Given the description of an element on the screen output the (x, y) to click on. 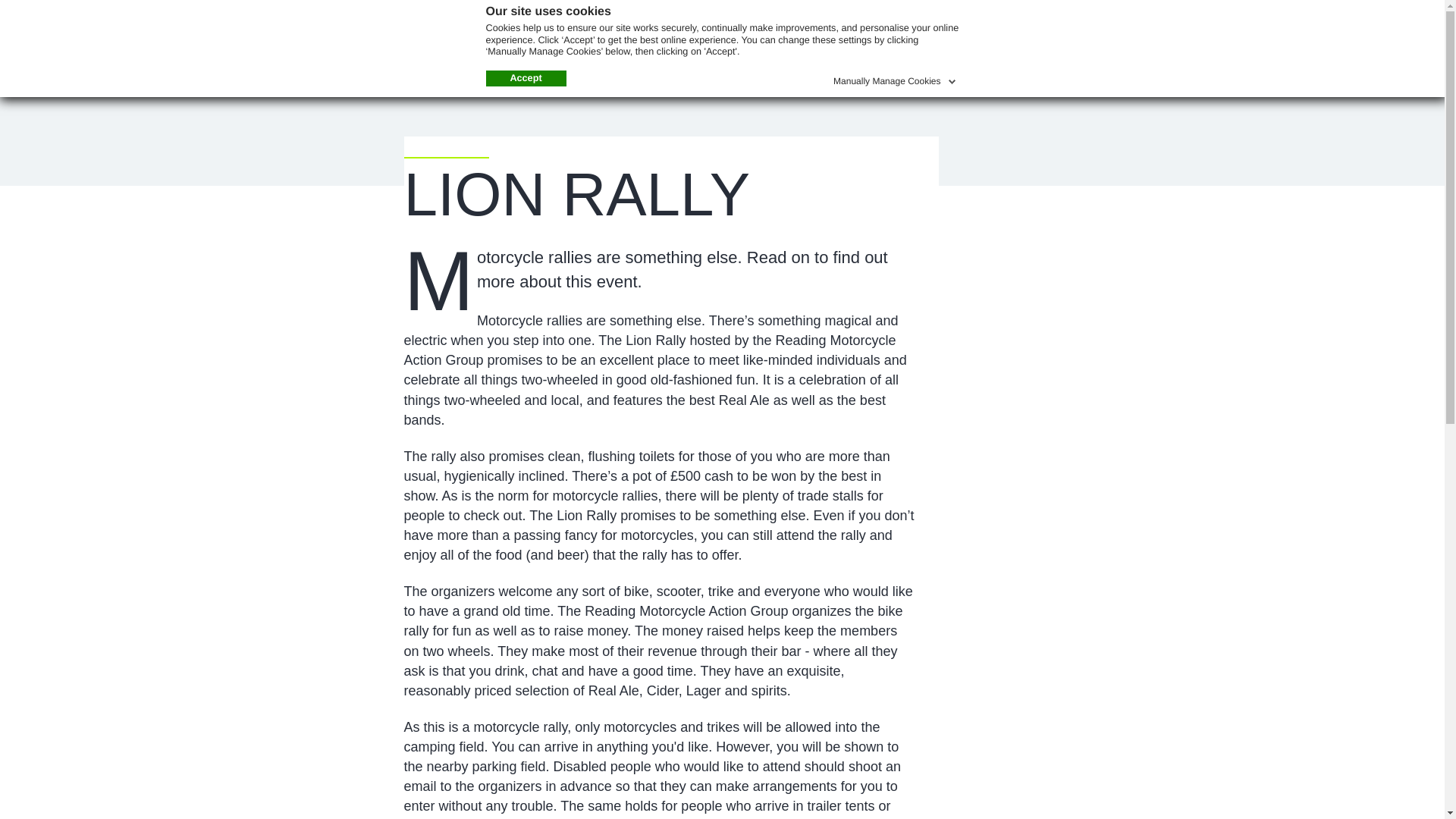
Accept (525, 78)
Manually Manage Cookies (895, 78)
